Given the description of an element on the screen output the (x, y) to click on. 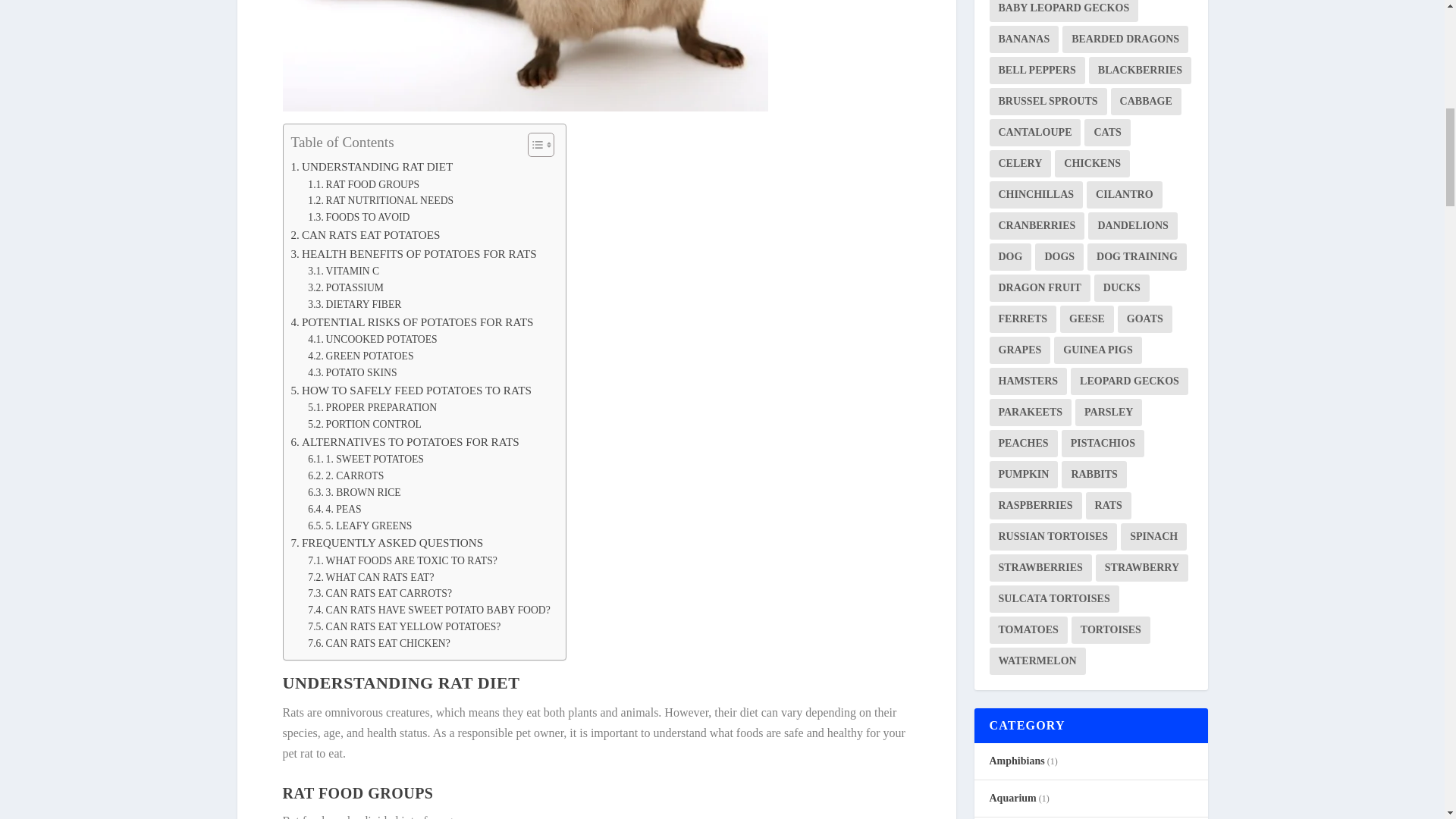
HEALTH BENEFITS OF POTATOES FOR RATS (414, 253)
UNDERSTANDING RAT DIET (371, 167)
CAN RATS EAT POTATOES (366, 235)
VITAMIN C (342, 271)
DIETARY FIBER (354, 304)
DIETARY FIBER (354, 304)
FOODS TO AVOID (358, 217)
RAT FOOD GROUPS (363, 184)
CAN RATS EAT POTATOES (366, 235)
POTATO SKINS (351, 372)
POTENTIAL RISKS OF POTATOES FOR RATS (412, 321)
FOODS TO AVOID (358, 217)
GREEN POTATOES (360, 356)
POTENTIAL RISKS OF POTATOES FOR RATS (412, 321)
UNDERSTANDING RAT DIET (371, 167)
